Given the description of an element on the screen output the (x, y) to click on. 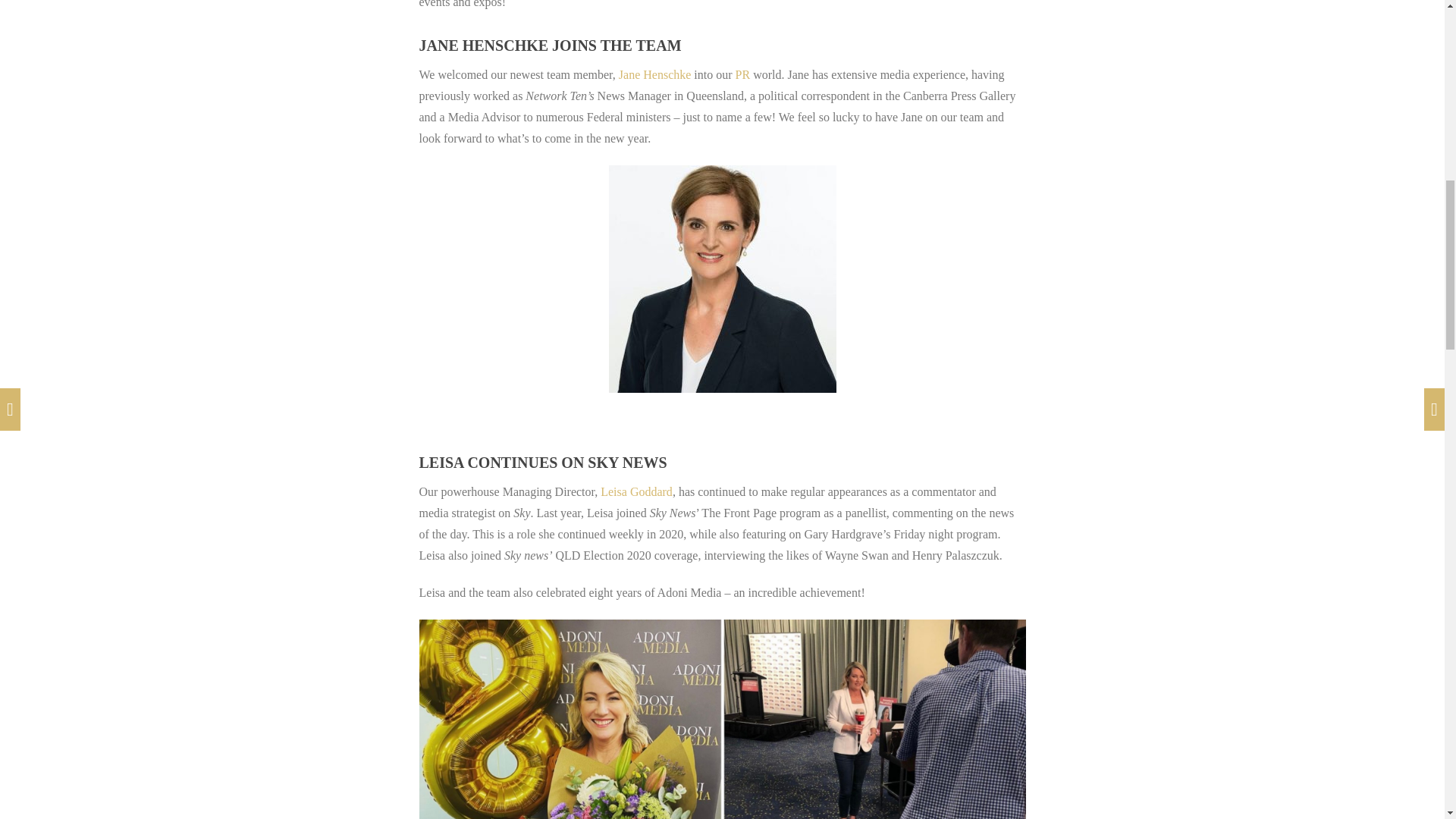
Leisa Goddard (635, 491)
Jane Henschke (654, 74)
PR (743, 74)
